Given the description of an element on the screen output the (x, y) to click on. 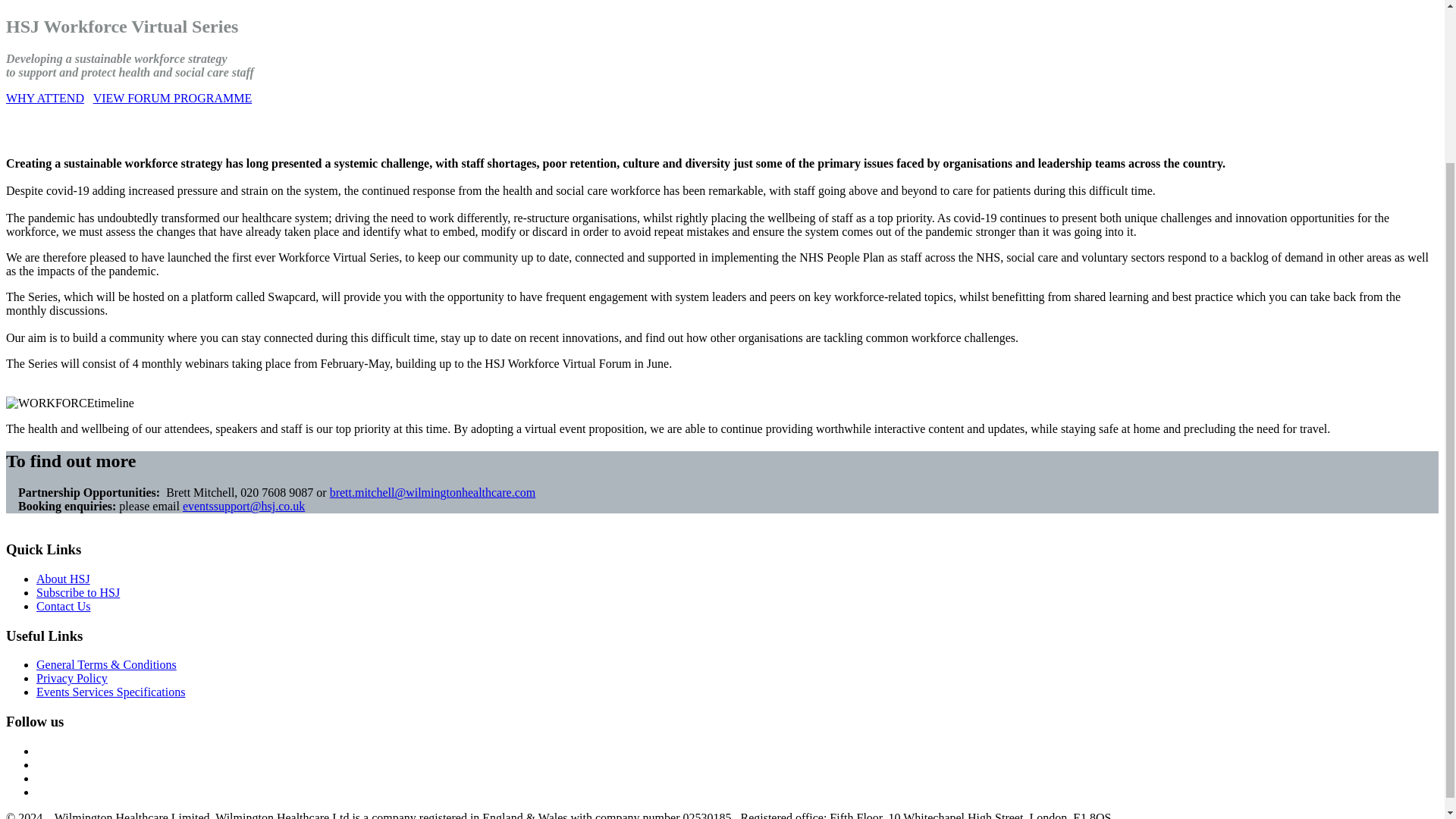
Privacy Policy (71, 677)
VIEW FORUM PROGRAMME (172, 97)
WHY ATTEND (44, 97)
WHY ATTEND (44, 97)
About HSJ (63, 578)
Events Services Specifications (110, 691)
Subscribe to HSJ (77, 592)
Contact Us (63, 605)
